Given the description of an element on the screen output the (x, y) to click on. 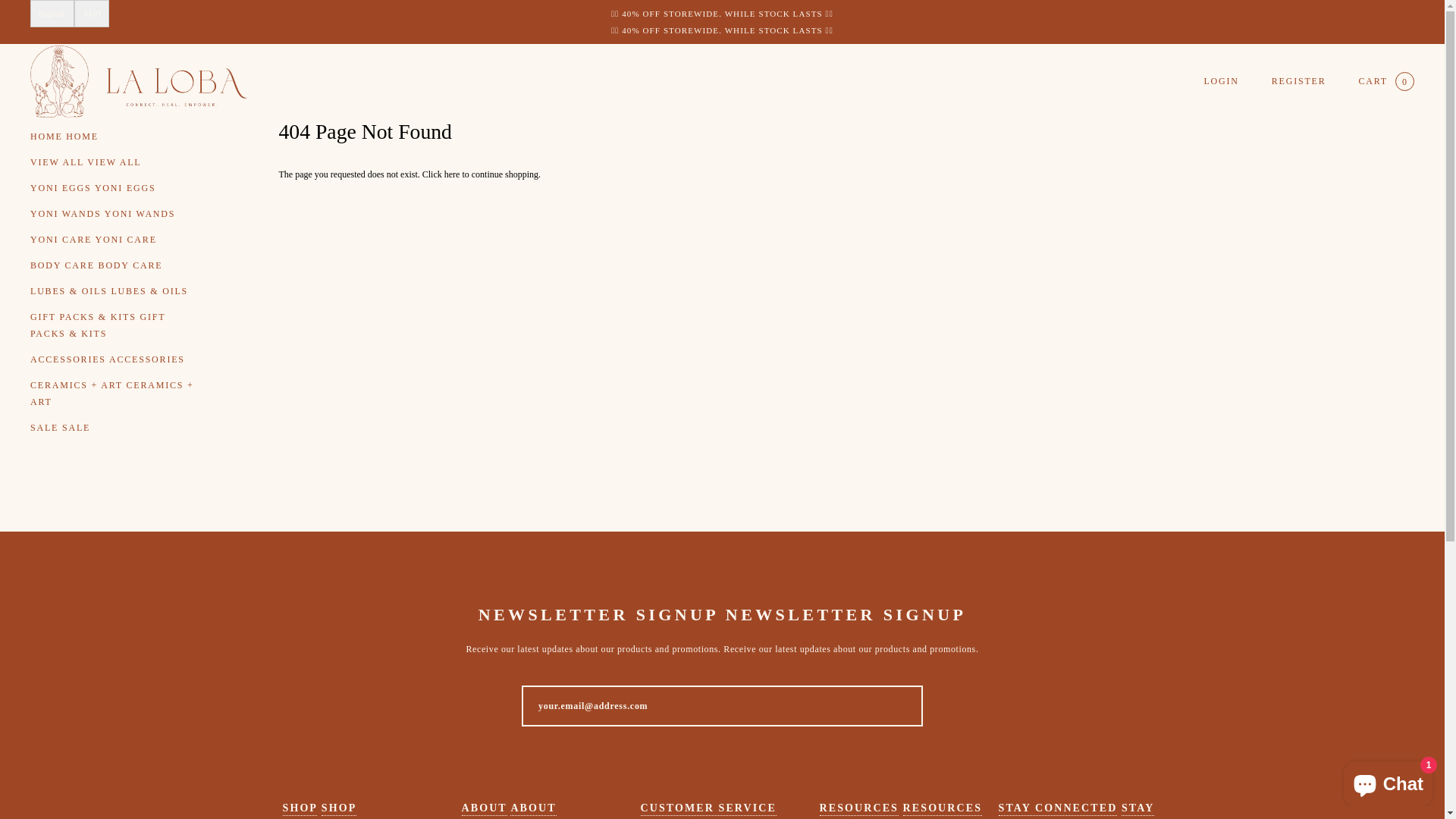
ACCESSORIES ACCESSORIES Element type: text (115, 359)
LUBES & OILS LUBES & OILS Element type: text (115, 290)
SALE SALE Element type: text (115, 427)
YONI CARE YONI CARE Element type: text (115, 239)
Shopify online store chat Element type: hover (1388, 780)
YONI EGGS YONI EGGS Element type: text (115, 187)
Click here Element type: text (442, 174)
CART
0 Element type: text (1386, 81)
VIEW ALL VIEW ALL Element type: text (115, 161)
GIFT PACKS & KITS GIFT PACKS & KITS Element type: text (115, 325)
CERAMICS + ART CERAMICS + ART Element type: text (115, 393)
HOME HOME Element type: text (115, 136)
YONI WANDS YONI WANDS Element type: text (115, 213)
BODY CARE BODY CARE Element type: text (115, 265)
REGISTER Element type: text (1298, 80)
LOGIN Element type: text (1220, 80)
